Given the description of an element on the screen output the (x, y) to click on. 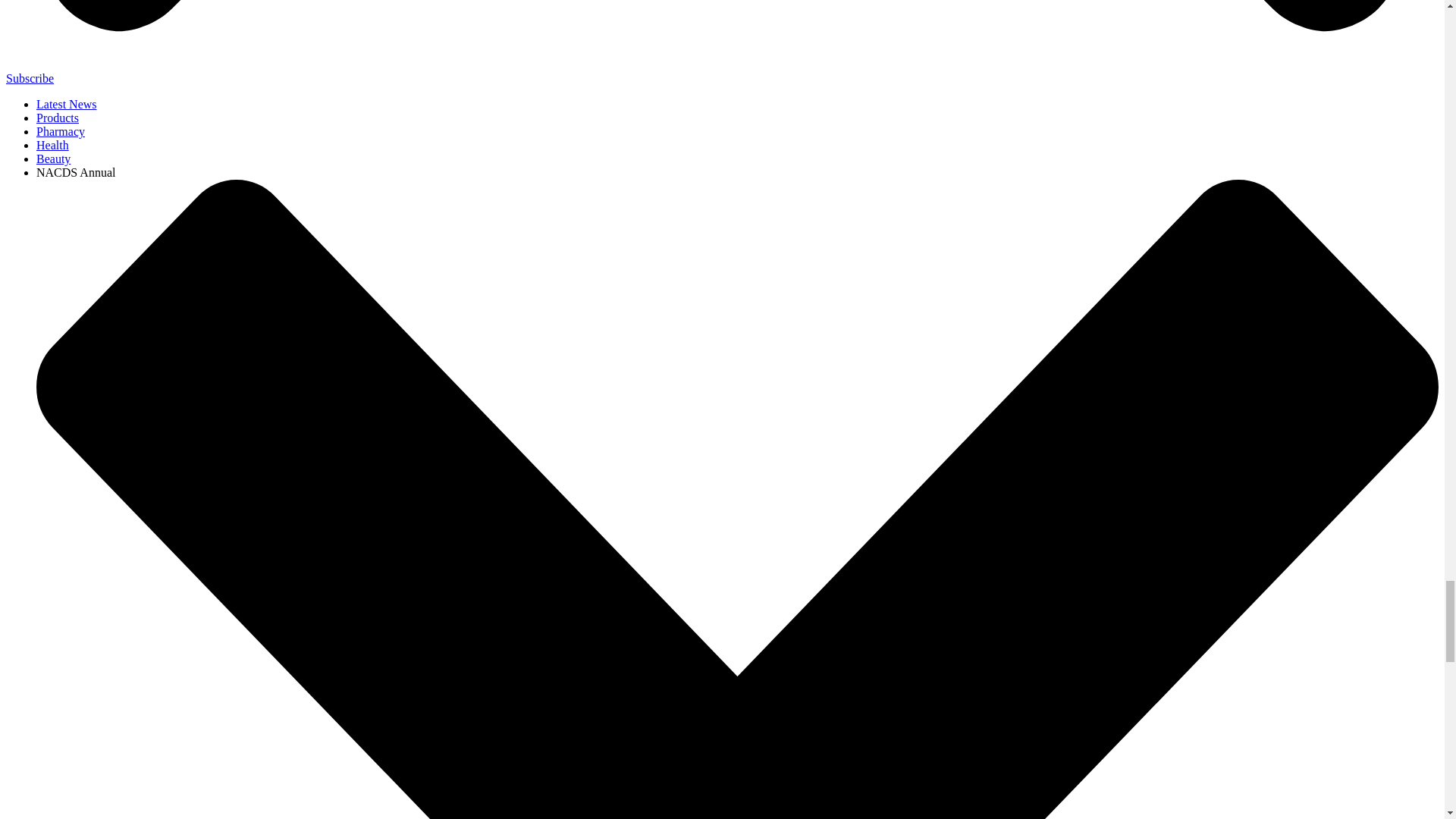
Subscribe (29, 78)
Pharmacy (60, 131)
NACDS Annual (75, 172)
Beauty (52, 158)
Latest News (66, 103)
Products (57, 117)
Health (52, 144)
